Given the description of an element on the screen output the (x, y) to click on. 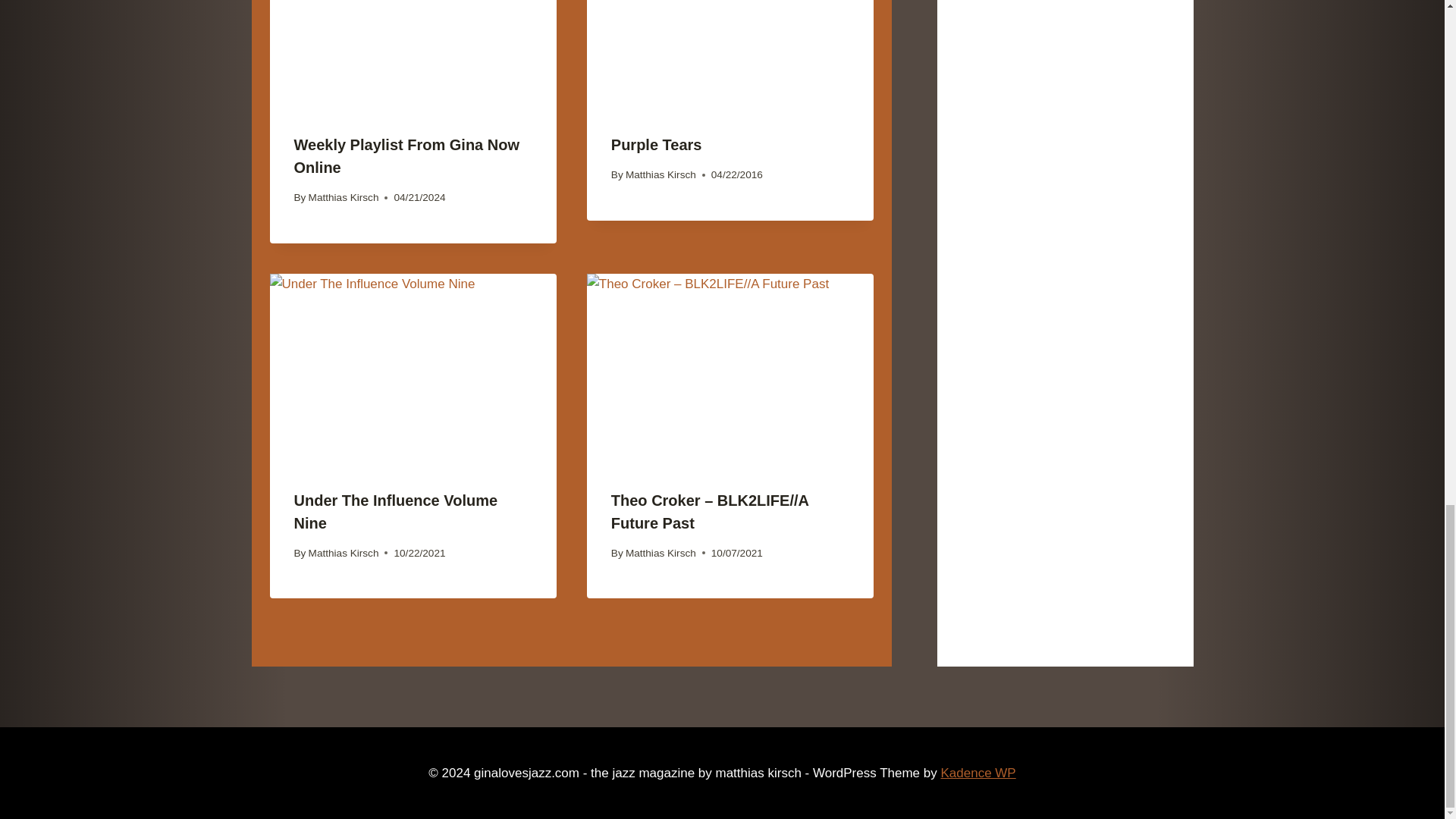
Matthias Kirsch (660, 174)
Weekly Playlist From Gina Now Online (406, 156)
Matthias Kirsch (343, 197)
Purple Tears (656, 144)
